Given the description of an element on the screen output the (x, y) to click on. 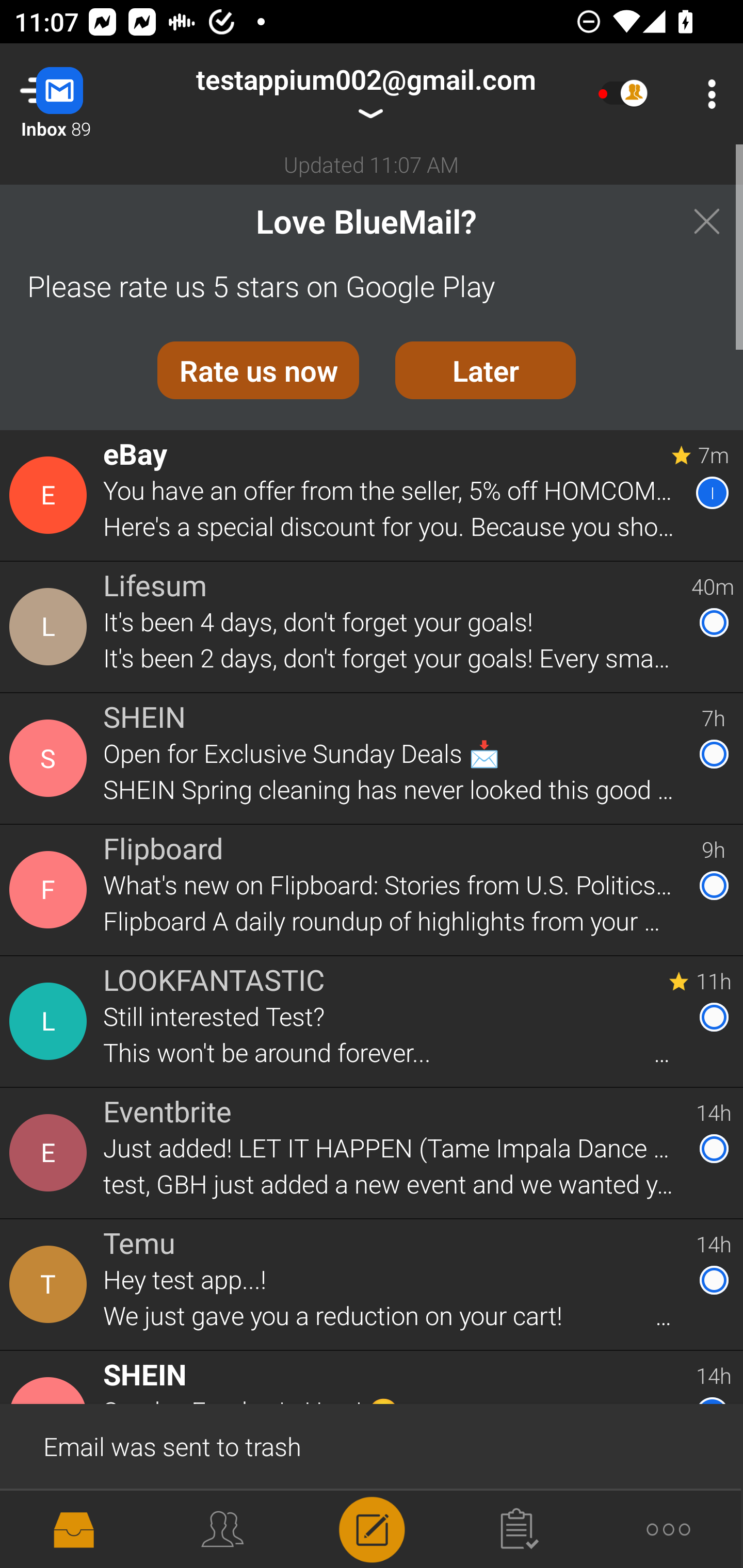
Navigate up (81, 93)
testappium002@gmail.com (365, 93)
More Options (706, 93)
Updated 11:07 AM (371, 164)
Rate us now (257, 370)
Later (485, 370)
Contact Details (50, 495)
Contact Details (50, 626)
Contact Details (50, 758)
Contact Details (50, 889)
Contact Details (50, 1021)
Contact Details (50, 1153)
Contact Details (50, 1284)
Email was sent to trash (371, 1445)
Contact Details (50, 1524)
Compose (371, 1528)
